Given the description of an element on the screen output the (x, y) to click on. 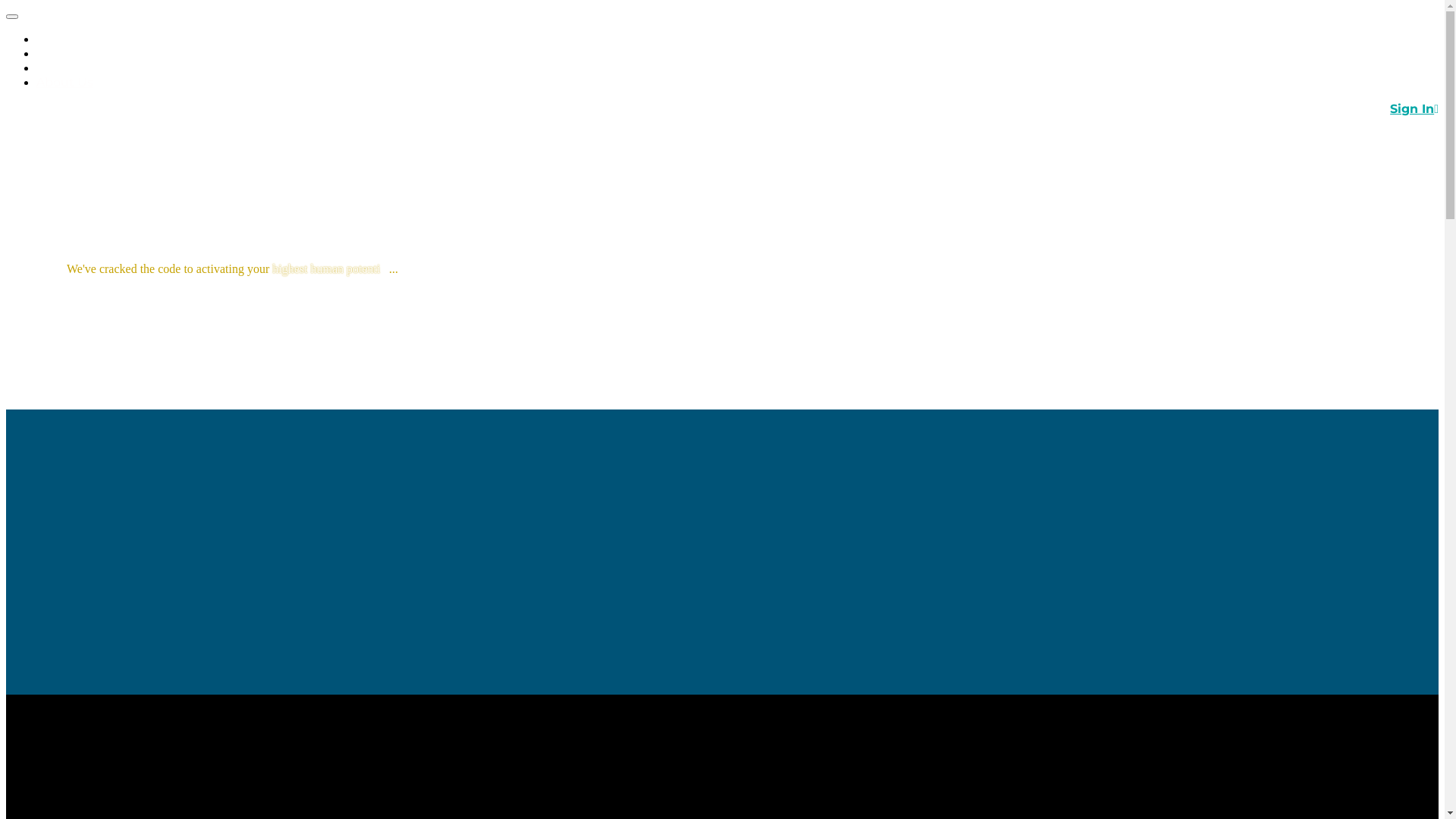
Home Element type: text (55, 38)
Sign In Element type: text (1414, 108)
Tools Element type: text (51, 67)
About Us Element type: text (64, 82)
Toggle navigation Element type: text (12, 16)
Programs Element type: text (65, 53)
